Given the description of an element on the screen output the (x, y) to click on. 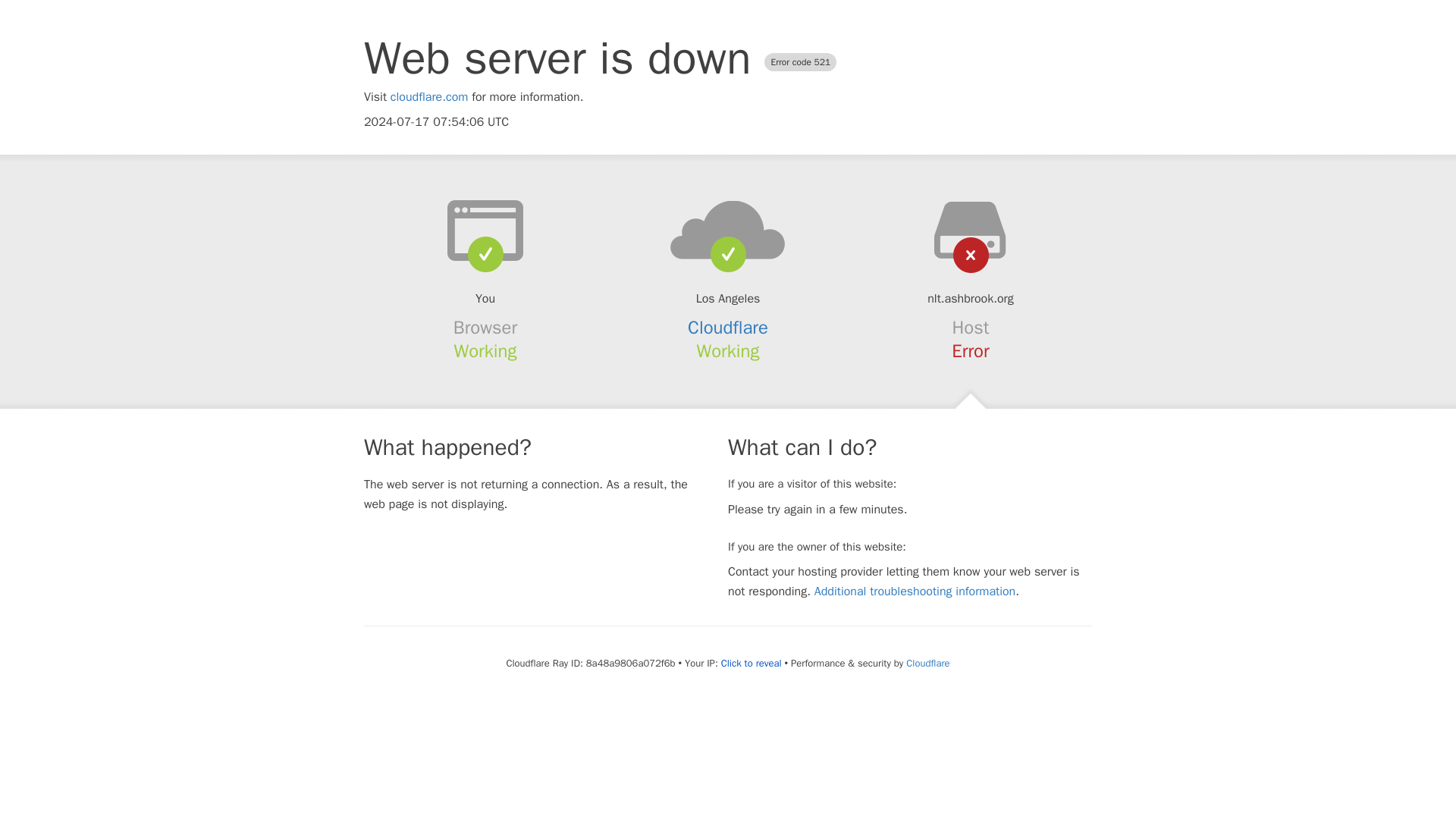
cloudflare.com (429, 96)
Click to reveal (750, 663)
Cloudflare (927, 662)
Cloudflare (727, 327)
Additional troubleshooting information (913, 590)
